Given the description of an element on the screen output the (x, y) to click on. 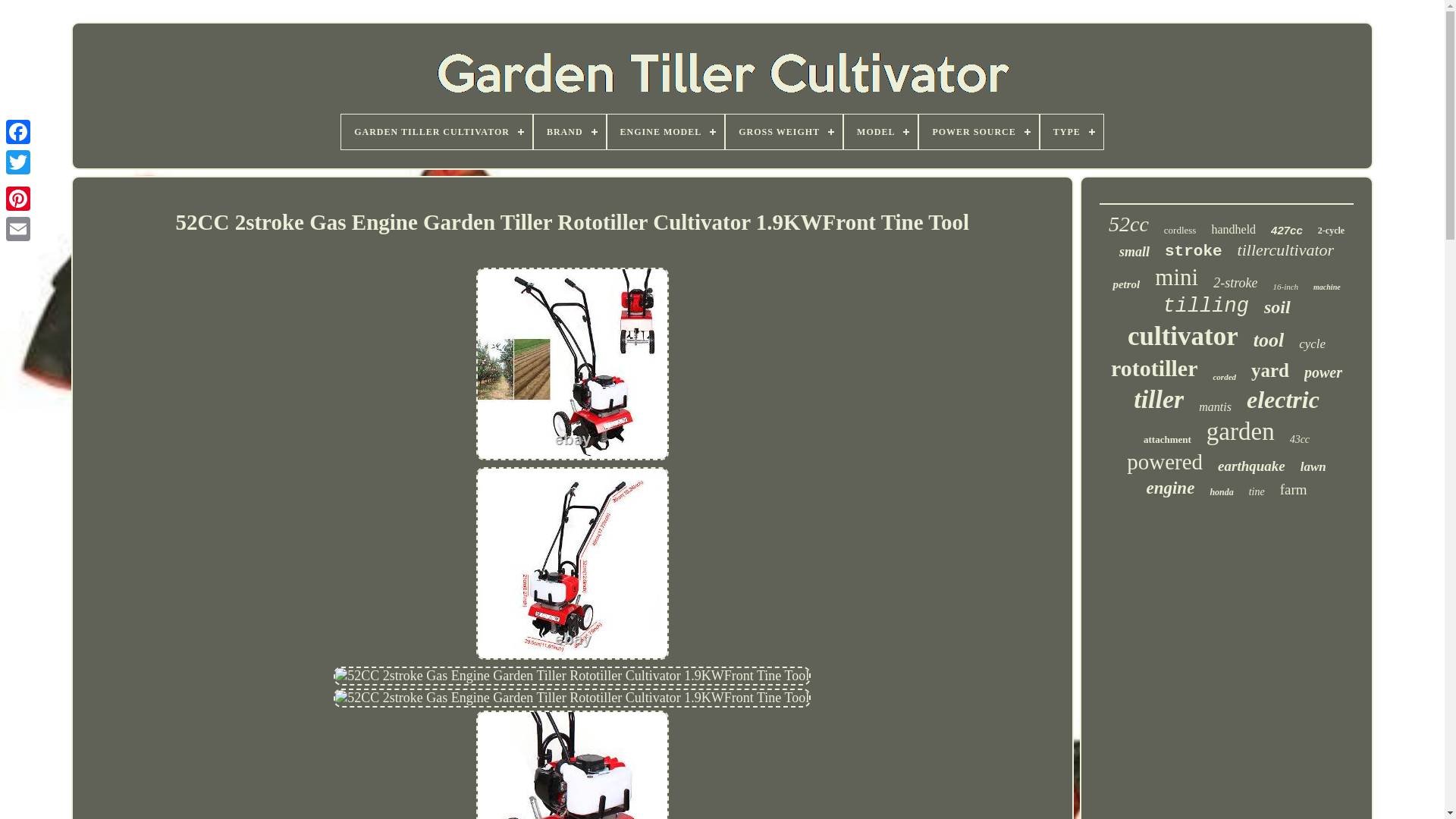
GROSS WEIGHT (784, 131)
BRAND (569, 131)
GARDEN TILLER CULTIVATOR (436, 131)
ENGINE MODEL (666, 131)
